Given the description of an element on the screen output the (x, y) to click on. 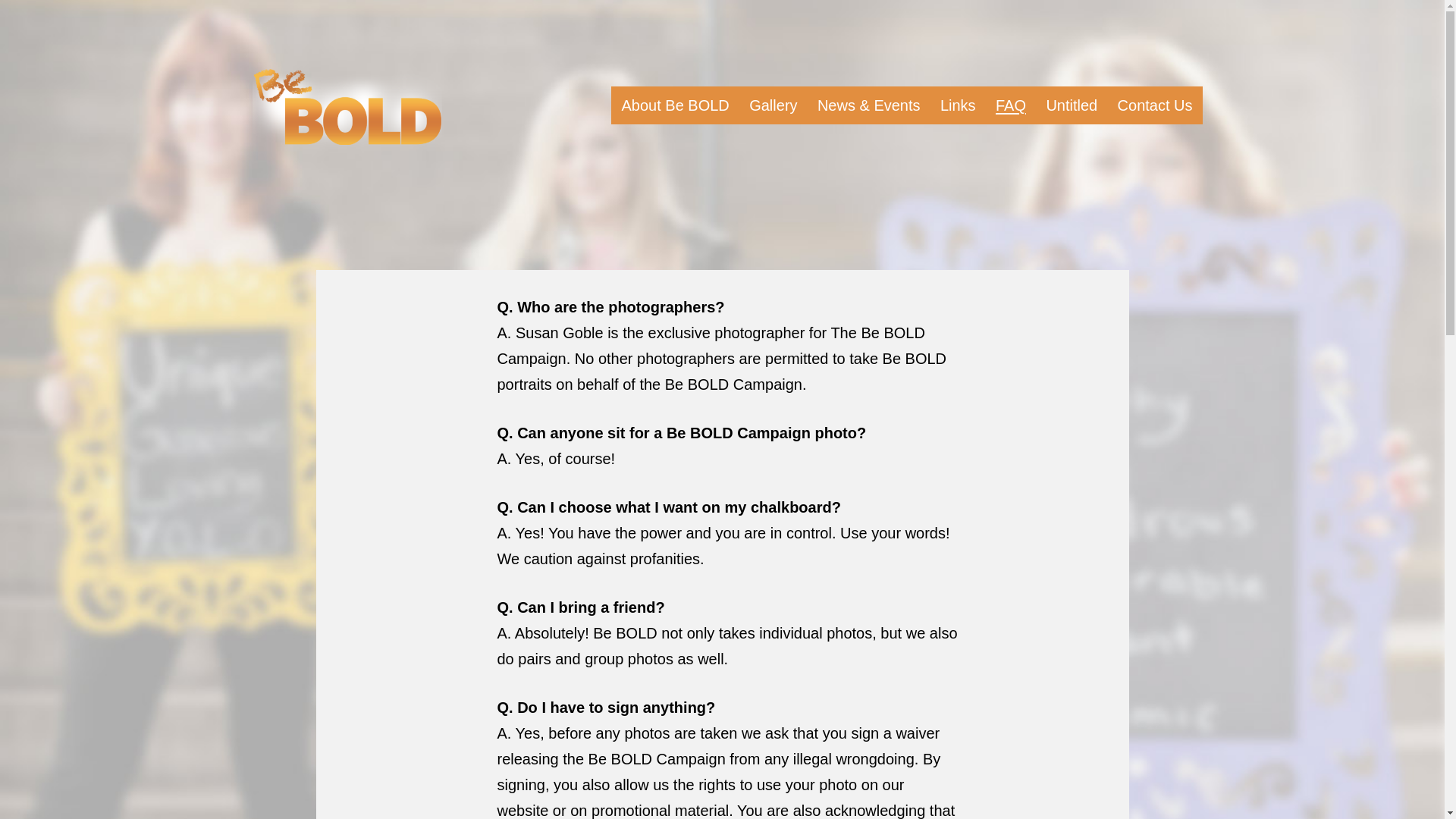
Gallery Element type: text (773, 104)
FAQ Element type: text (1010, 104)
Contact Us Element type: text (1154, 104)
Links Element type: text (957, 104)
News & Events Element type: text (868, 104)
About Be BOLD Element type: text (675, 104)
Untitled Element type: text (1071, 104)
